Given the description of an element on the screen output the (x, y) to click on. 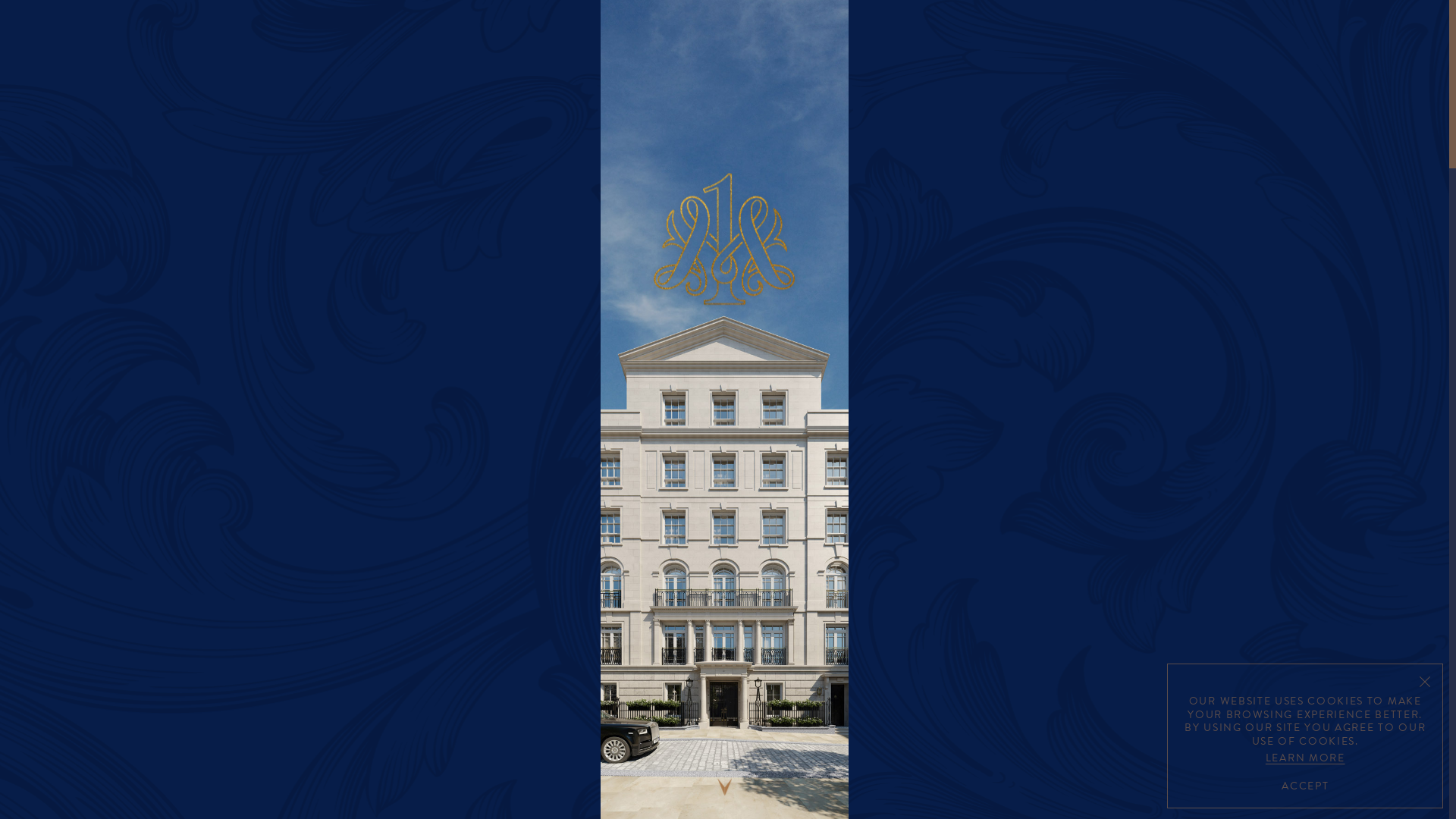
Skip to content Element type: text (724, 794)
ACCEPT Element type: text (1305, 783)
SKIP Element type: text (724, 758)
LEARN MORE Element type: text (1305, 756)
